Given the description of an element on the screen output the (x, y) to click on. 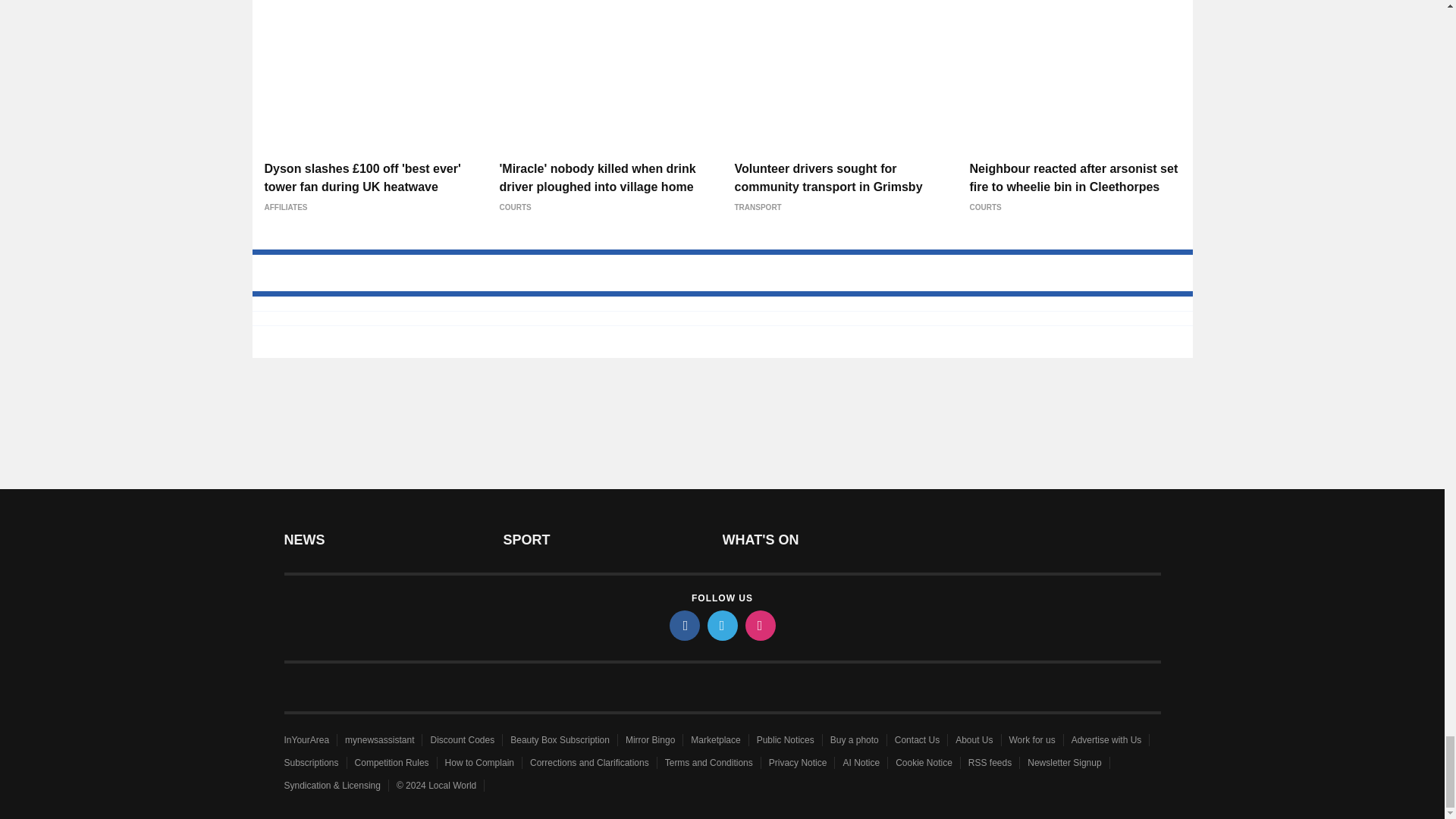
facebook (683, 624)
instagram (759, 624)
twitter (721, 624)
